Given the description of an element on the screen output the (x, y) to click on. 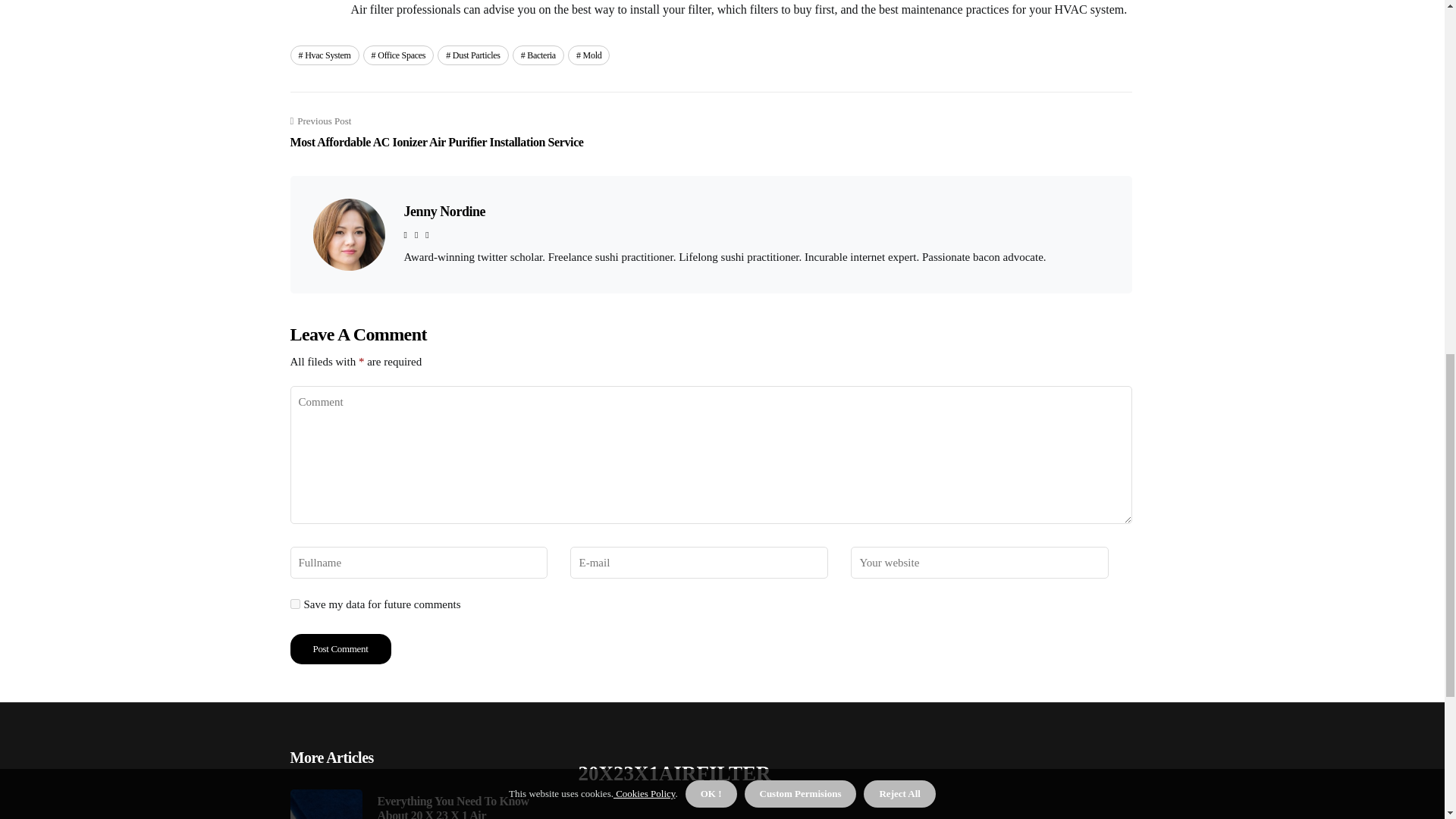
Post Comment (339, 648)
Office Spaces (397, 55)
Jenny Nordine (443, 211)
Bacteria (538, 55)
Dust Particles (473, 55)
Hvac System (323, 55)
yes (294, 603)
Post Comment (339, 648)
Mold (588, 55)
